Given the description of an element on the screen output the (x, y) to click on. 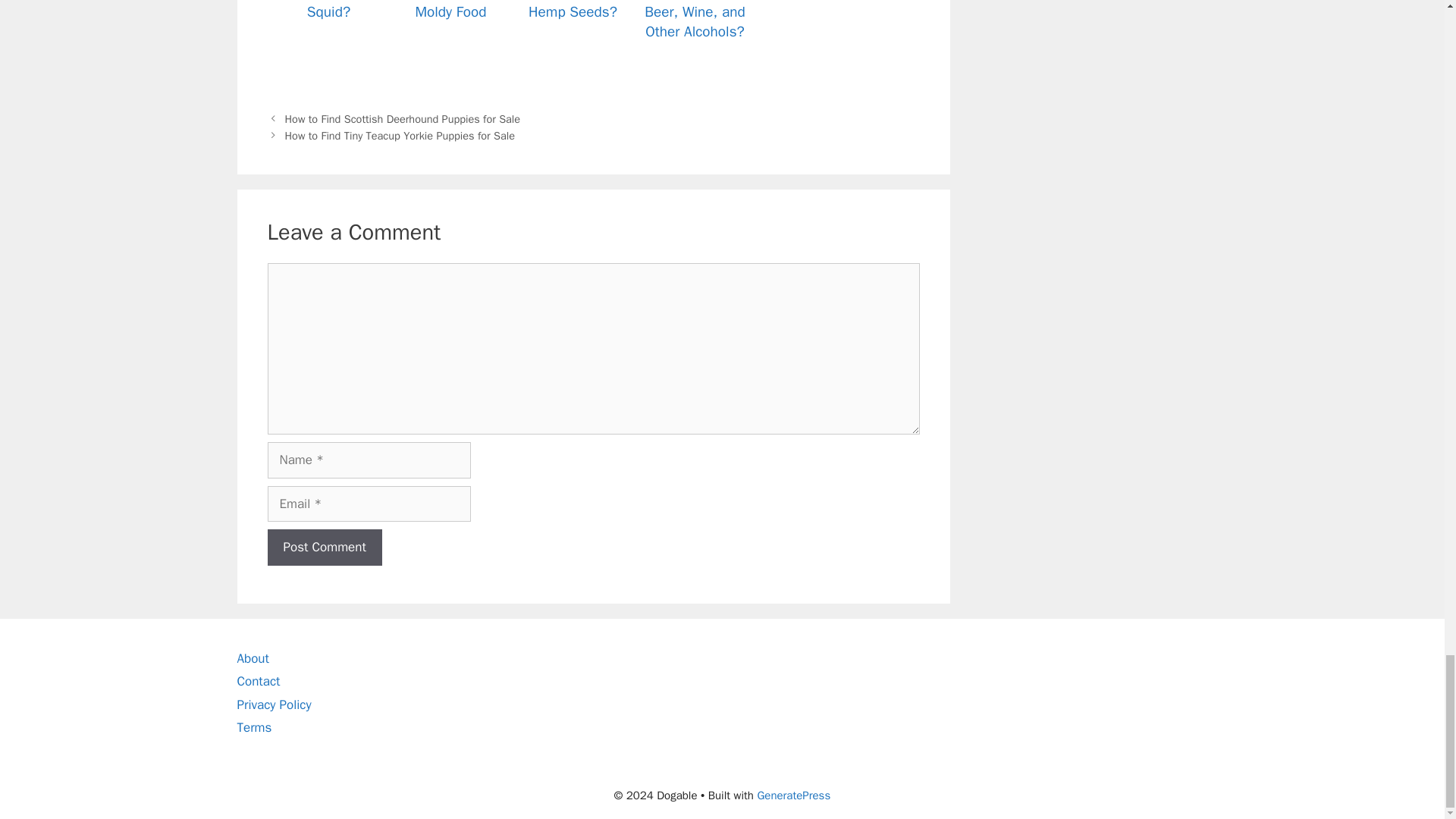
Post Comment (323, 547)
Can Dogs Drink Beer, Wine, and Other Alcohols? (695, 42)
Can Dogs Eat Squid? (328, 42)
Can Dogs Eat Hemp Seeds? (572, 42)
How to Find Scottish Deerhound Puppies for Sale (403, 119)
Help! My Dog Ate Moldy Food (451, 42)
Post Comment (323, 547)
How to Find Tiny Teacup Yorkie Puppies for Sale (400, 135)
